Given the description of an element on the screen output the (x, y) to click on. 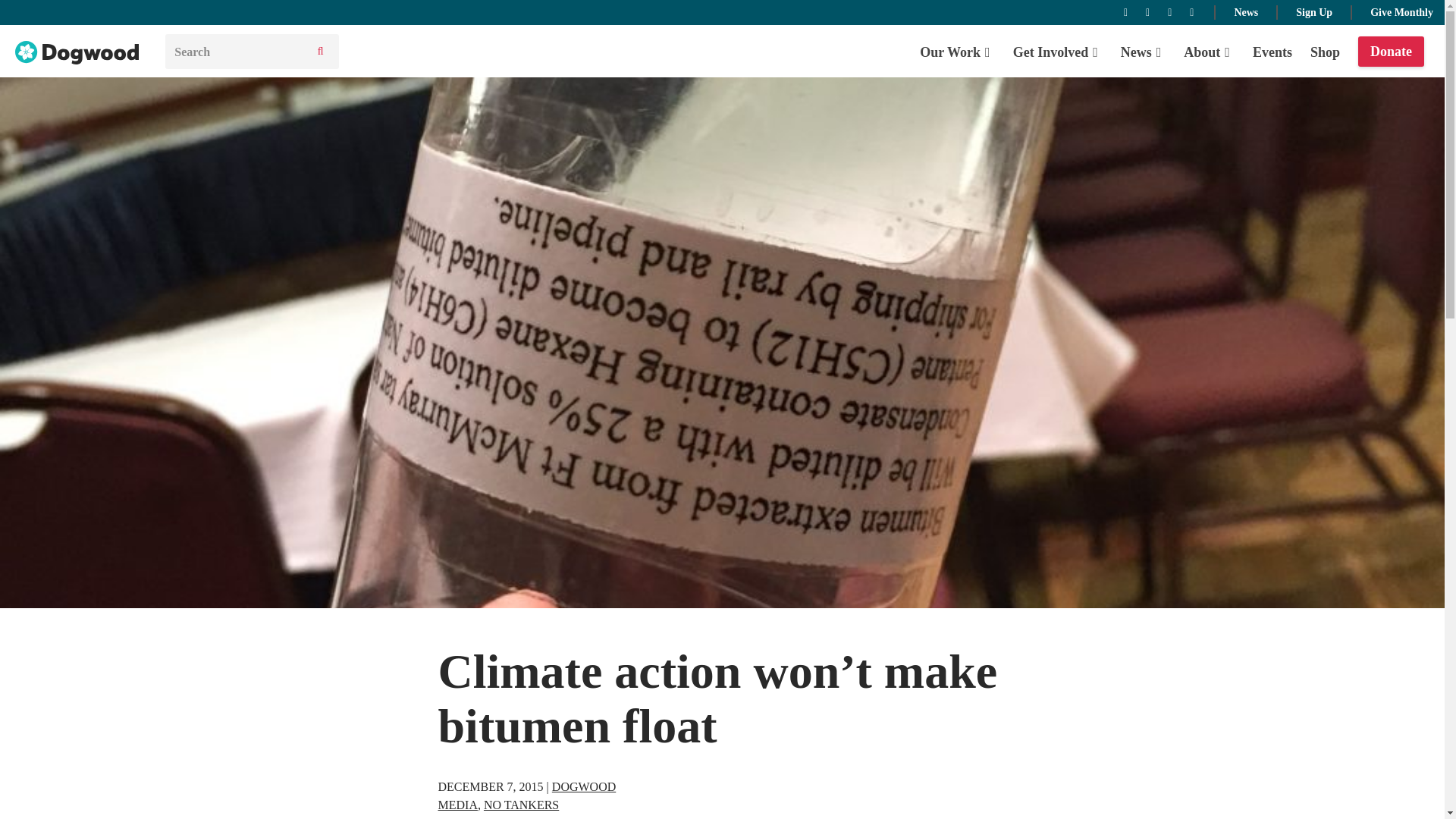
Donate (1391, 51)
Shop (1324, 51)
Our Work (957, 51)
Give Monthly (1401, 11)
MEDIA (457, 804)
About (1208, 51)
NO TANKERS (521, 804)
News (1143, 51)
Get Involved (1057, 51)
Dogwood (76, 52)
Sign Up (1313, 11)
News (1245, 11)
Posts by Dogwood (583, 786)
DOGWOOD (583, 786)
Search for: (234, 51)
